Given the description of an element on the screen output the (x, y) to click on. 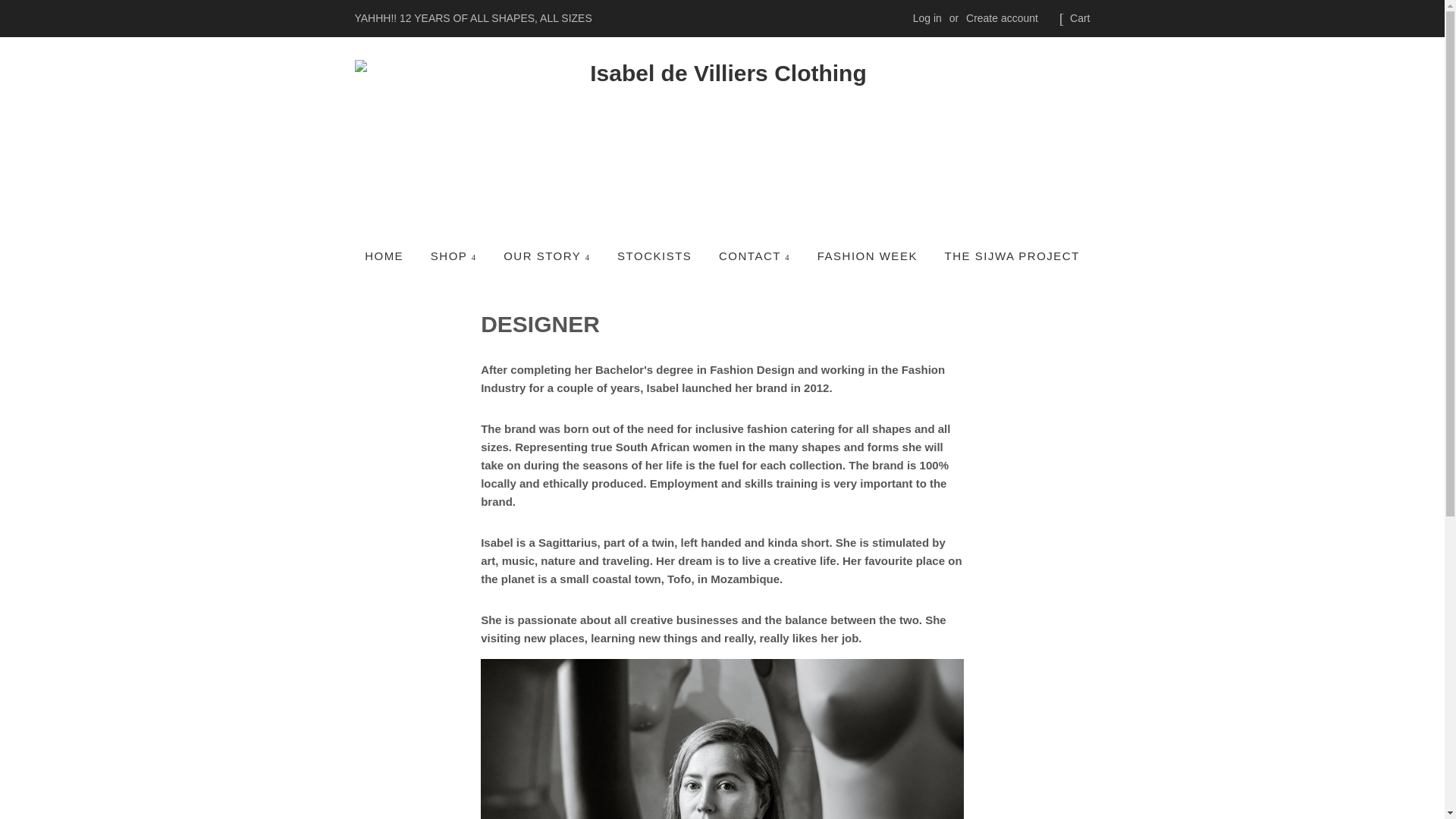
STOCKISTS (654, 256)
Create account (1002, 18)
OUR STORY (546, 256)
Cart (1079, 18)
HOME (389, 256)
SHOP (453, 256)
Log in (927, 18)
